Given the description of an element on the screen output the (x, y) to click on. 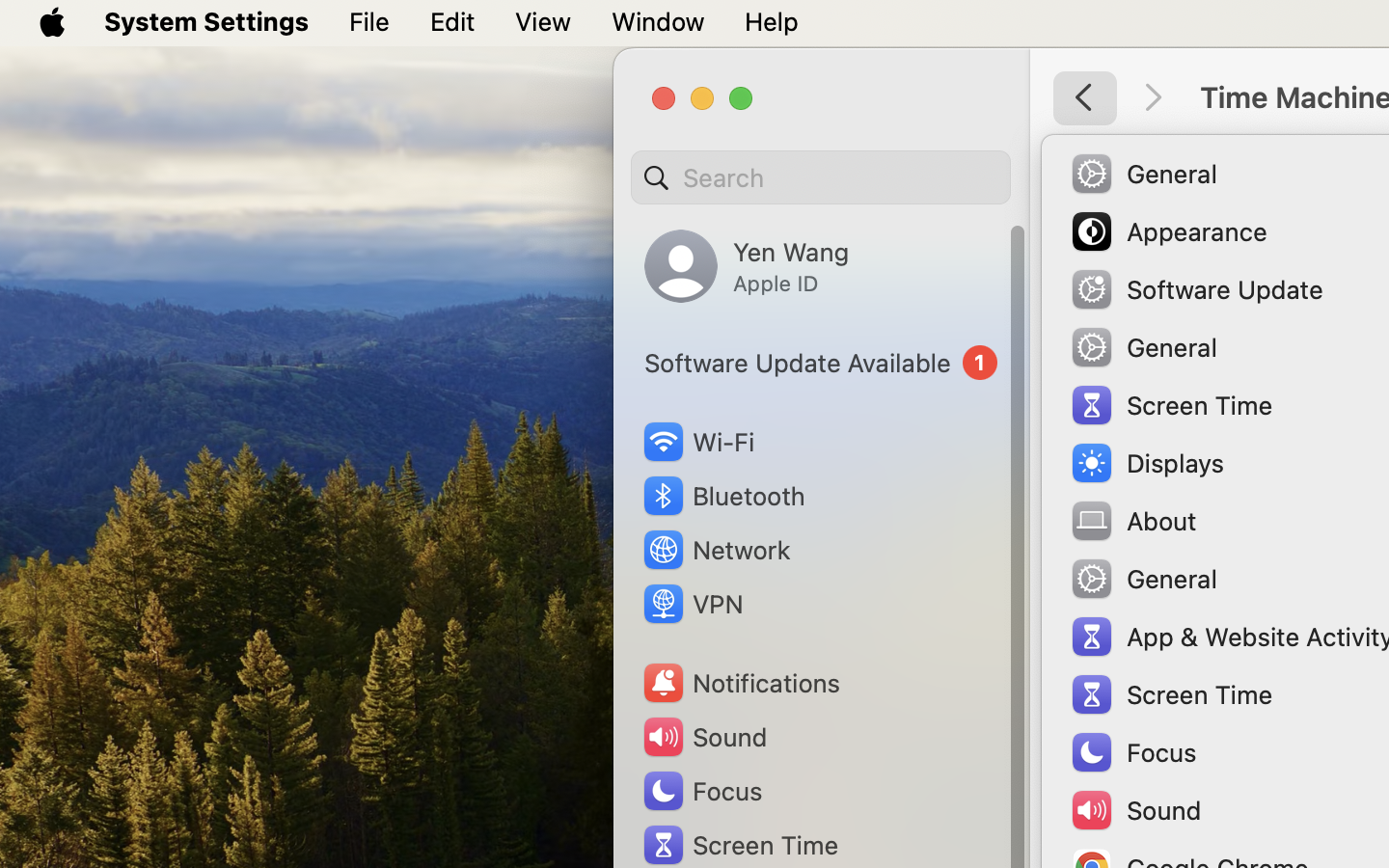
Bluetooth Element type: AXStaticText (723, 495)
Wi‑Fi Element type: AXStaticText (697, 441)
Notifications Element type: AXStaticText (740, 682)
1 Element type: AXStaticText (820, 362)
Sound Element type: AXStaticText (703, 736)
